Given the description of an element on the screen output the (x, y) to click on. 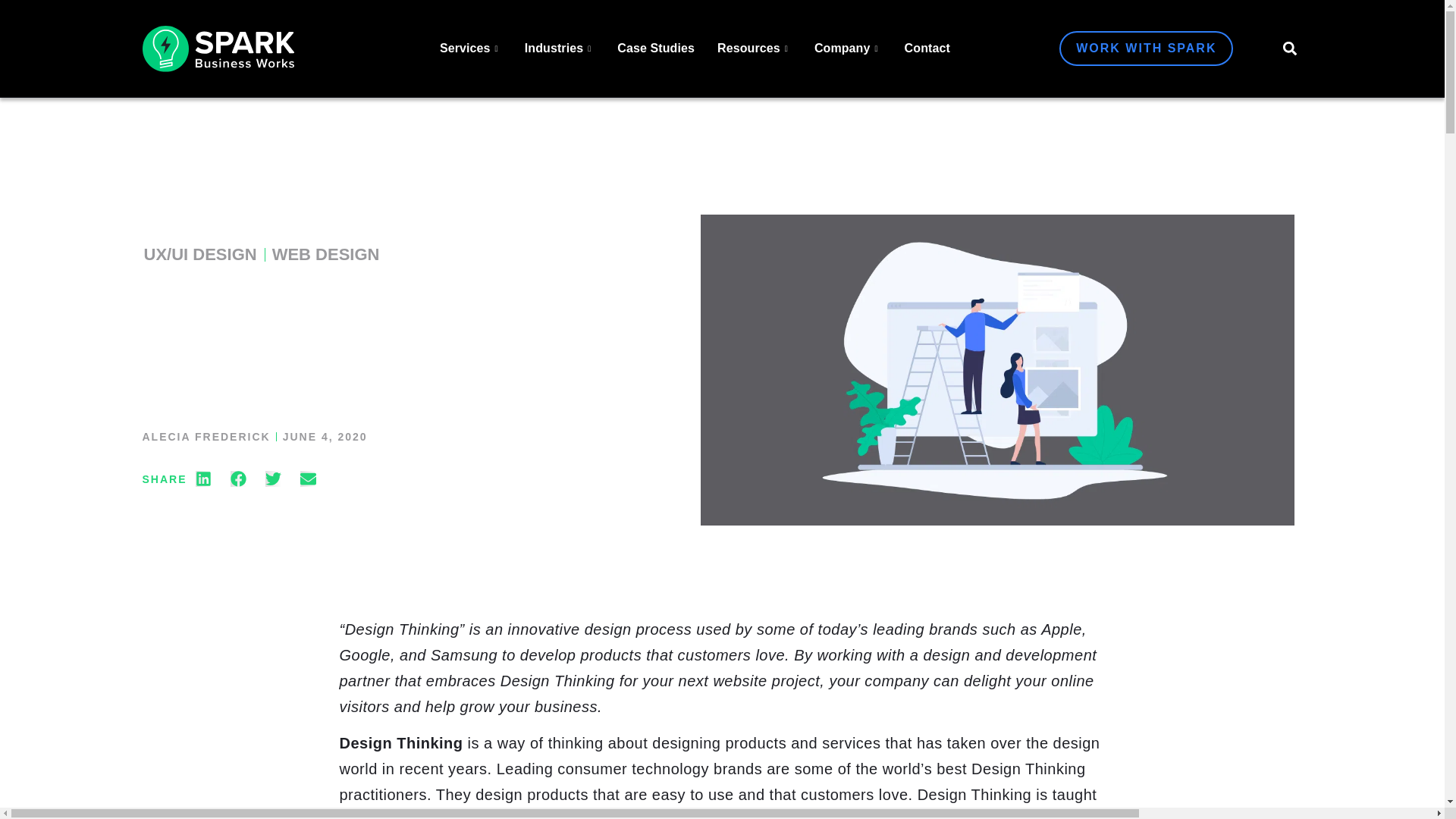
BACK TO BLOGS (212, 167)
WEB DESIGN (326, 254)
Services (470, 48)
JUNE 4, 2020 (325, 436)
ALECIA FREDERICK (206, 436)
Resources (754, 48)
WORK WITH SPARK (1146, 48)
Case Studies (655, 48)
Industries (560, 48)
Company (848, 48)
Contact (926, 48)
